Given the description of an element on the screen output the (x, y) to click on. 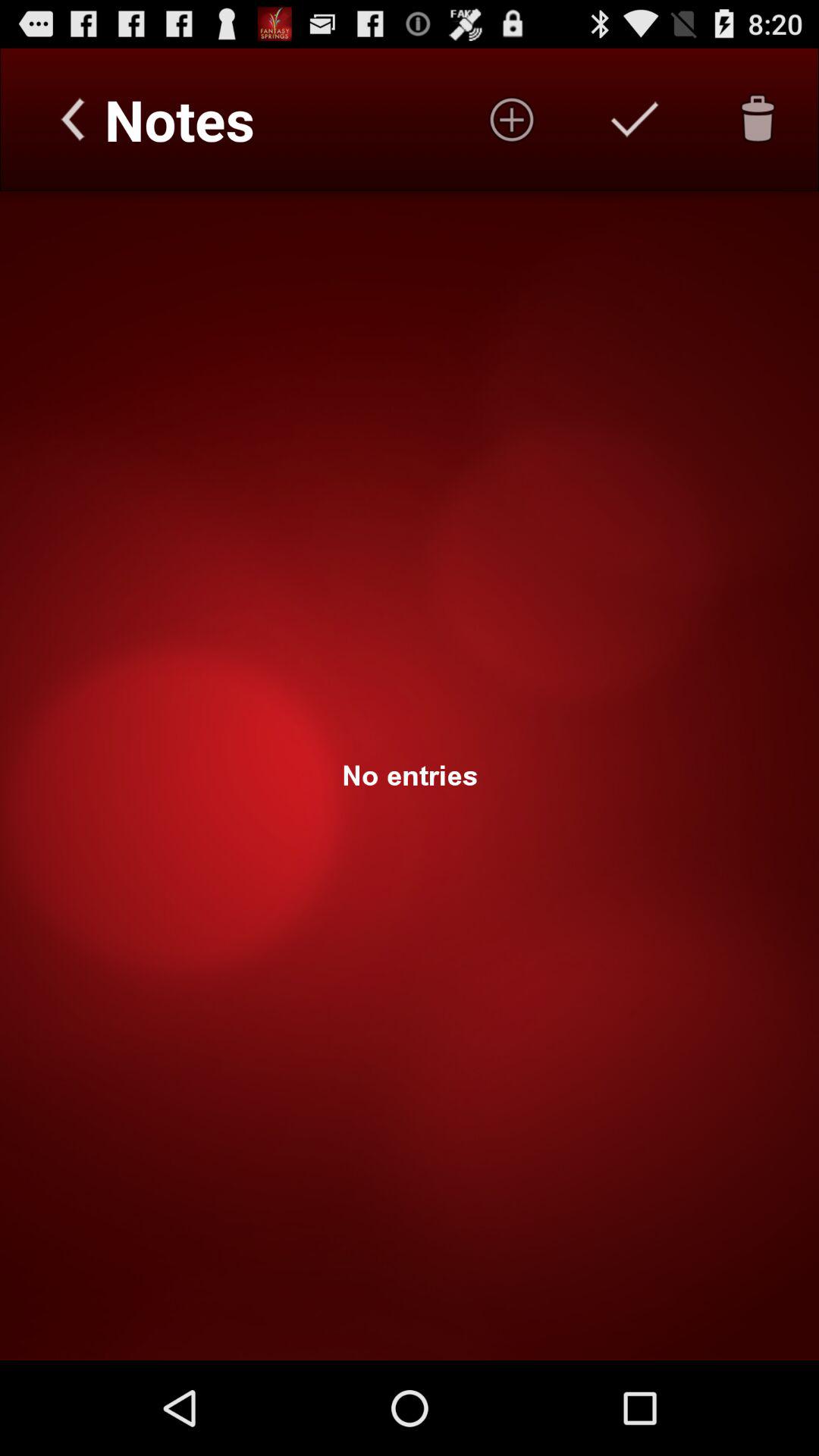
add notes (511, 119)
